Given the description of an element on the screen output the (x, y) to click on. 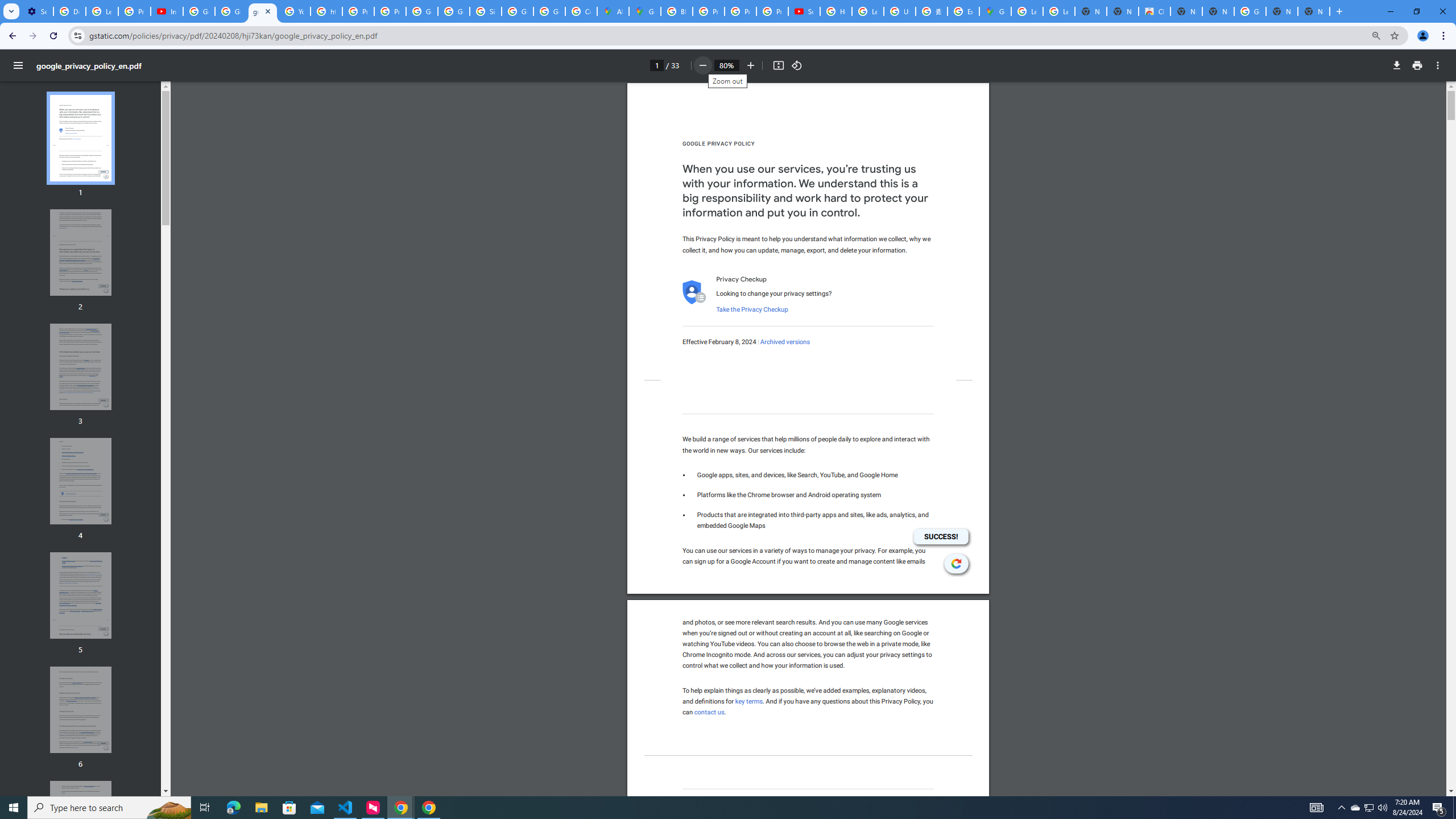
Learn how to find your photos - Google Photos Help (101, 11)
Settings - Customize profile (37, 11)
Thumbnail for page 4 (80, 481)
More actions (1437, 65)
Zoom in (750, 65)
YouTube (294, 11)
Rotate counterclockwise (796, 65)
